Given the description of an element on the screen output the (x, y) to click on. 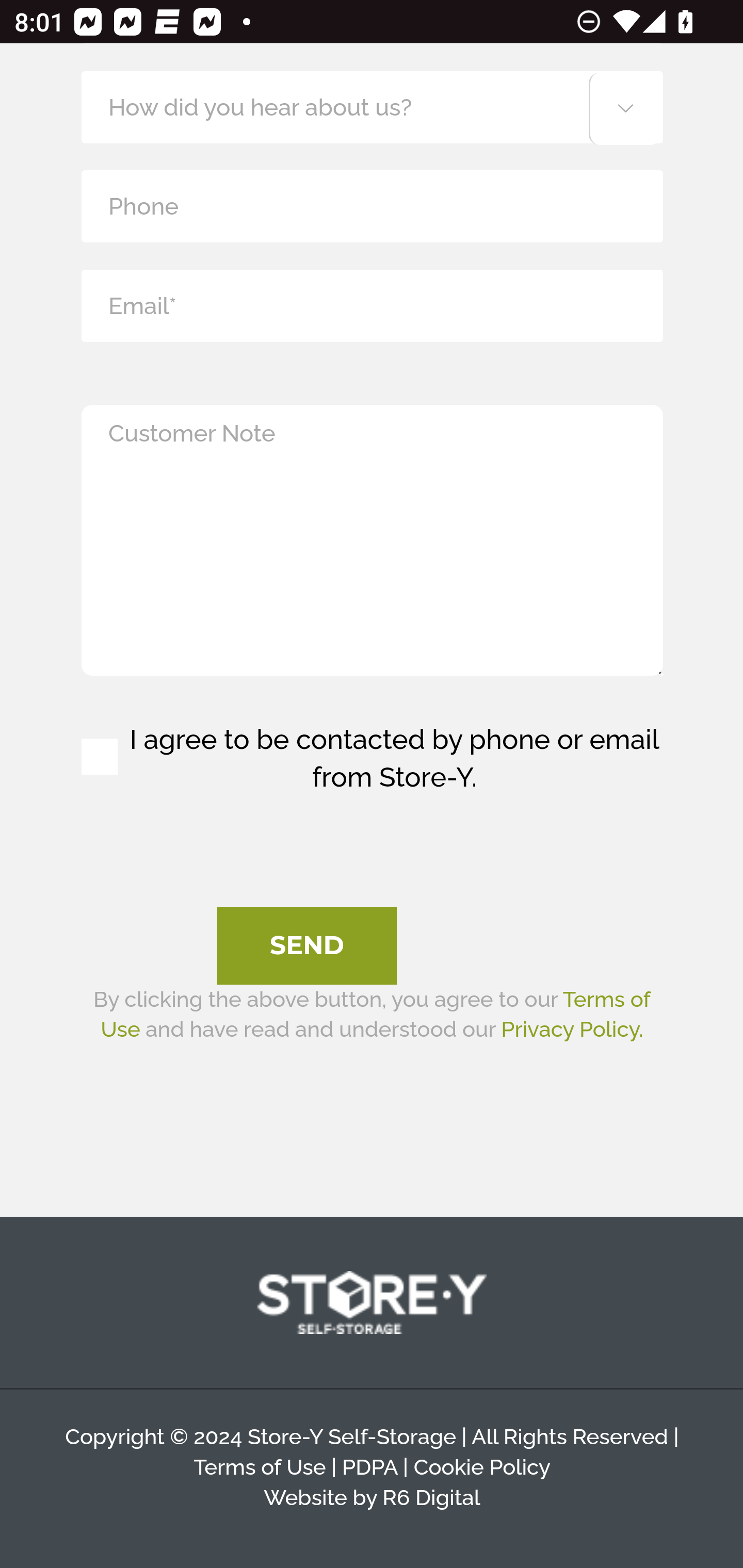
How did you hear about us? (371, 107)
Send (306, 946)
Terms of Use (374, 1014)
Privacy Policy. (572, 1029)
store-y logo no background | Store-y Self Storage (371, 1303)
Terms of Use (259, 1468)
PDPA (369, 1468)
Cookie Policy (480, 1468)
R6 Digital (430, 1496)
